Given the description of an element on the screen output the (x, y) to click on. 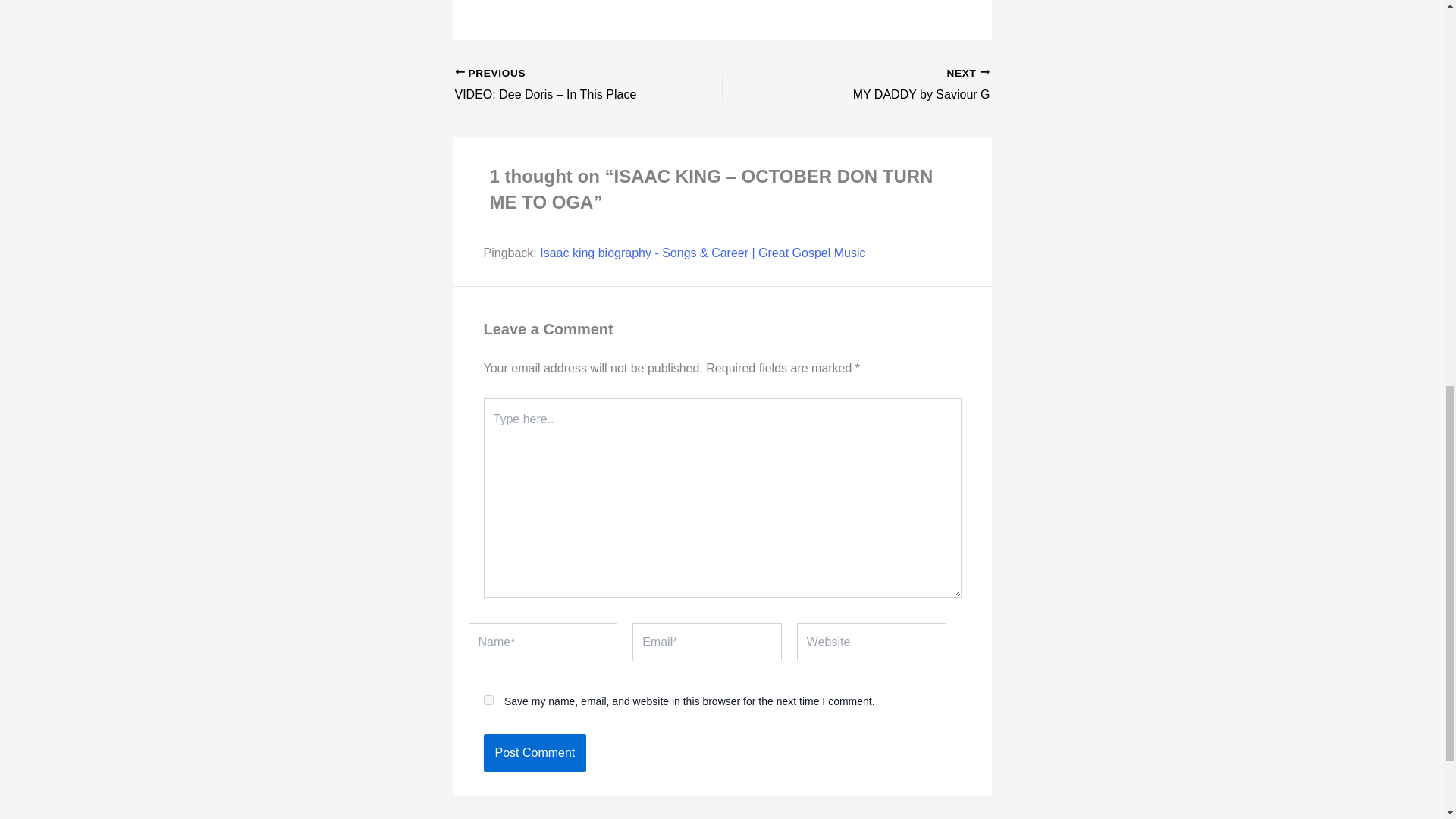
MY DADDY by Saviour G (882, 84)
yes (488, 700)
Post Comment (882, 84)
Post Comment (534, 752)
